Given the description of an element on the screen output the (x, y) to click on. 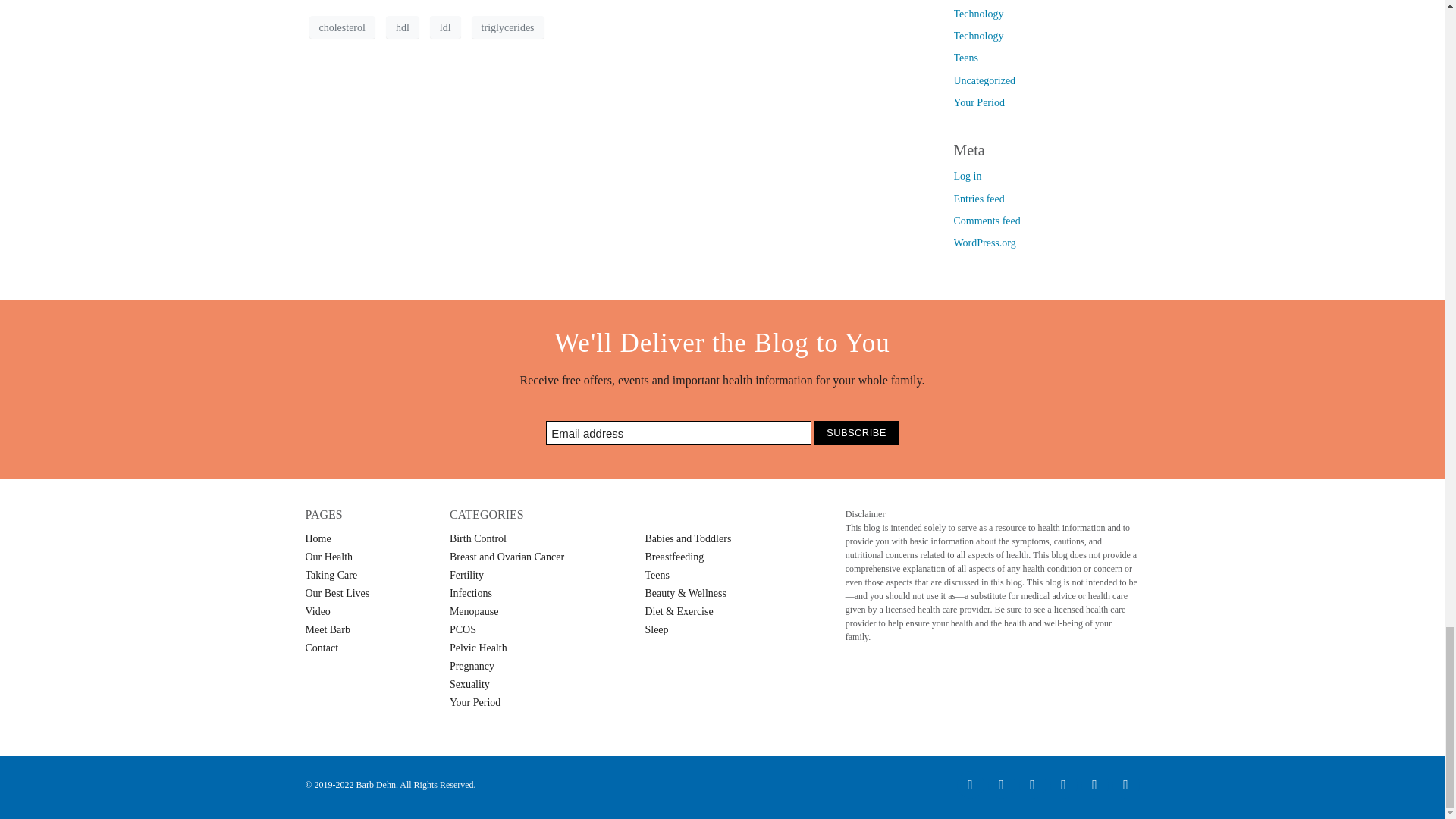
Subscribe (855, 432)
